Given the description of an element on the screen output the (x, y) to click on. 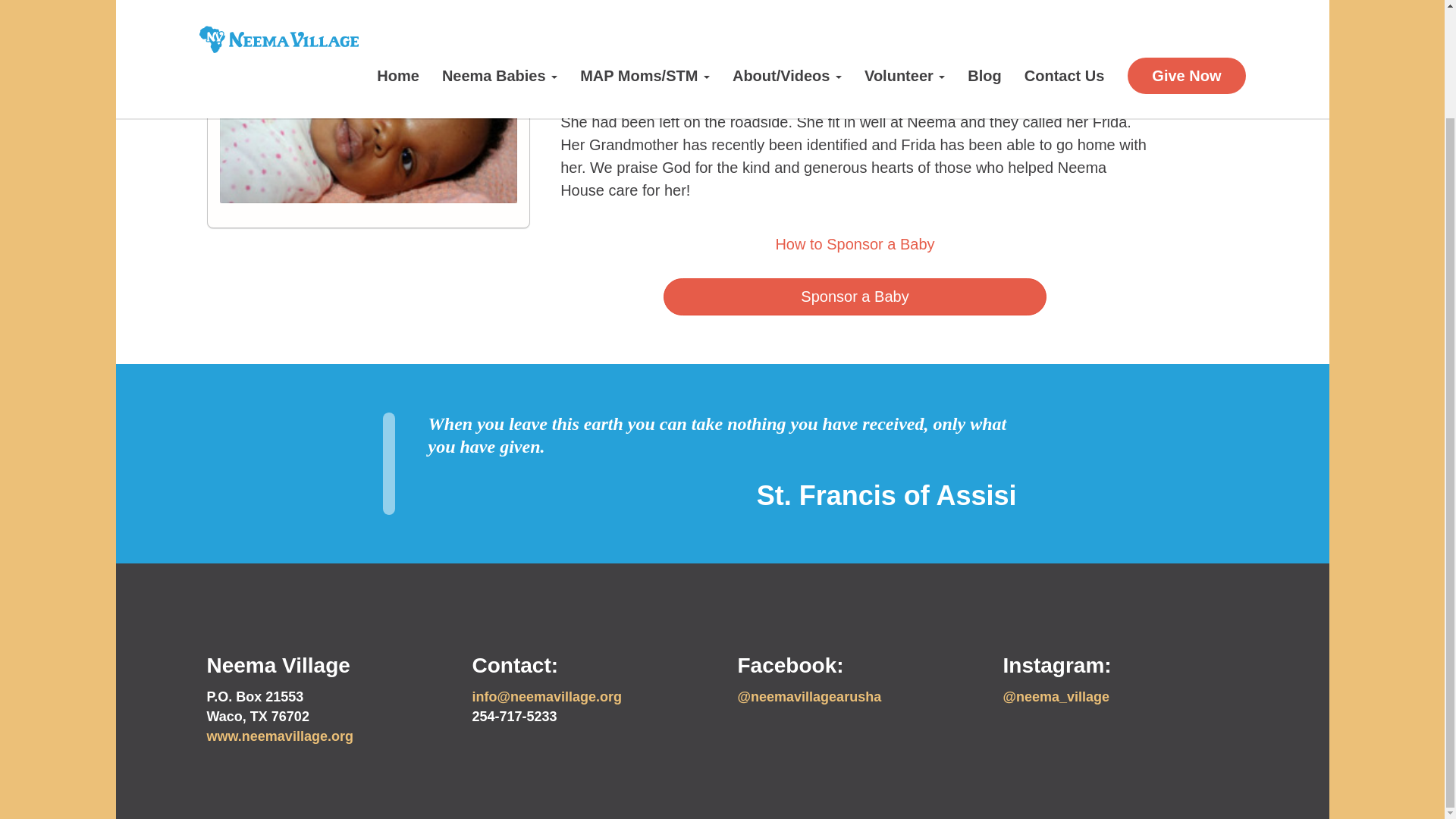
Adopted (590, 52)
How to Sponsor a Baby (854, 243)
Sponsor a Baby (854, 296)
www.neemavillage.org (279, 735)
